Given the description of an element on the screen output the (x, y) to click on. 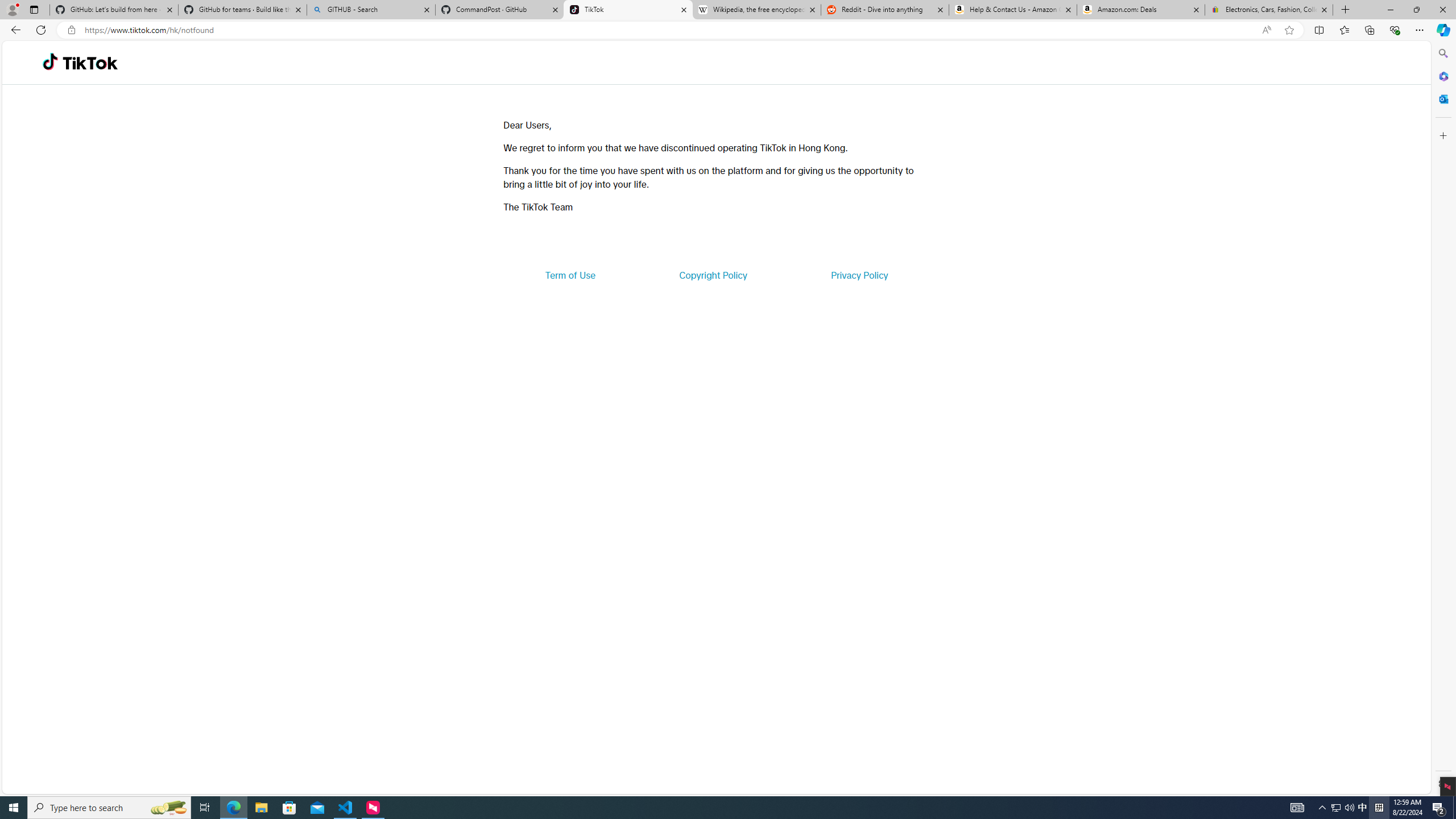
TikTok (89, 62)
Copyright Policy (712, 274)
